Given the description of an element on the screen output the (x, y) to click on. 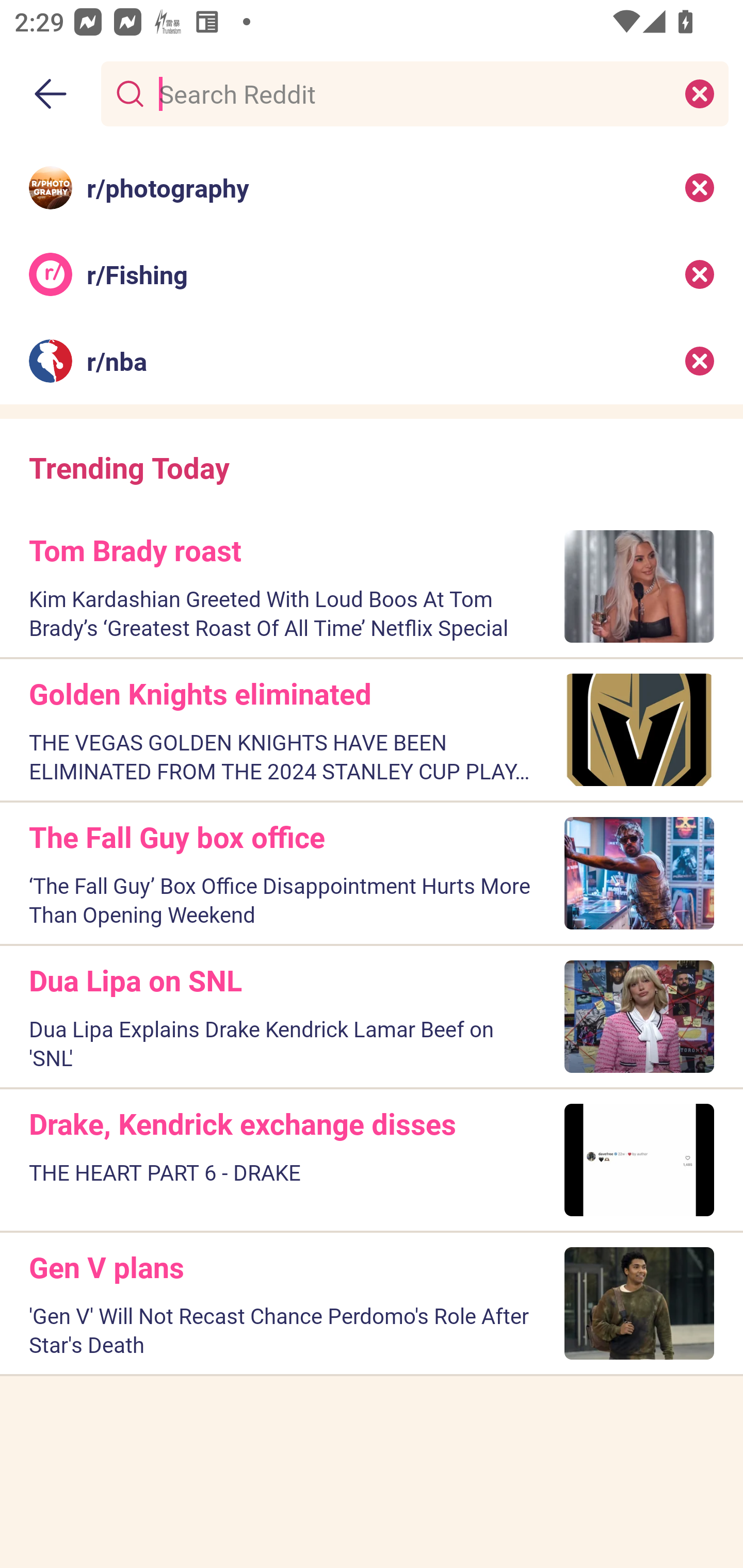
Back (50, 93)
Search Reddit (410, 93)
Clear search (699, 93)
r/photography Recent search: r/photography Remove (371, 187)
Remove (699, 187)
r/Fishing Recent search: r/Fishing Remove (371, 274)
Remove (699, 274)
r/nba Recent search: r/nba Remove (371, 361)
Remove (699, 361)
